Given the description of an element on the screen output the (x, y) to click on. 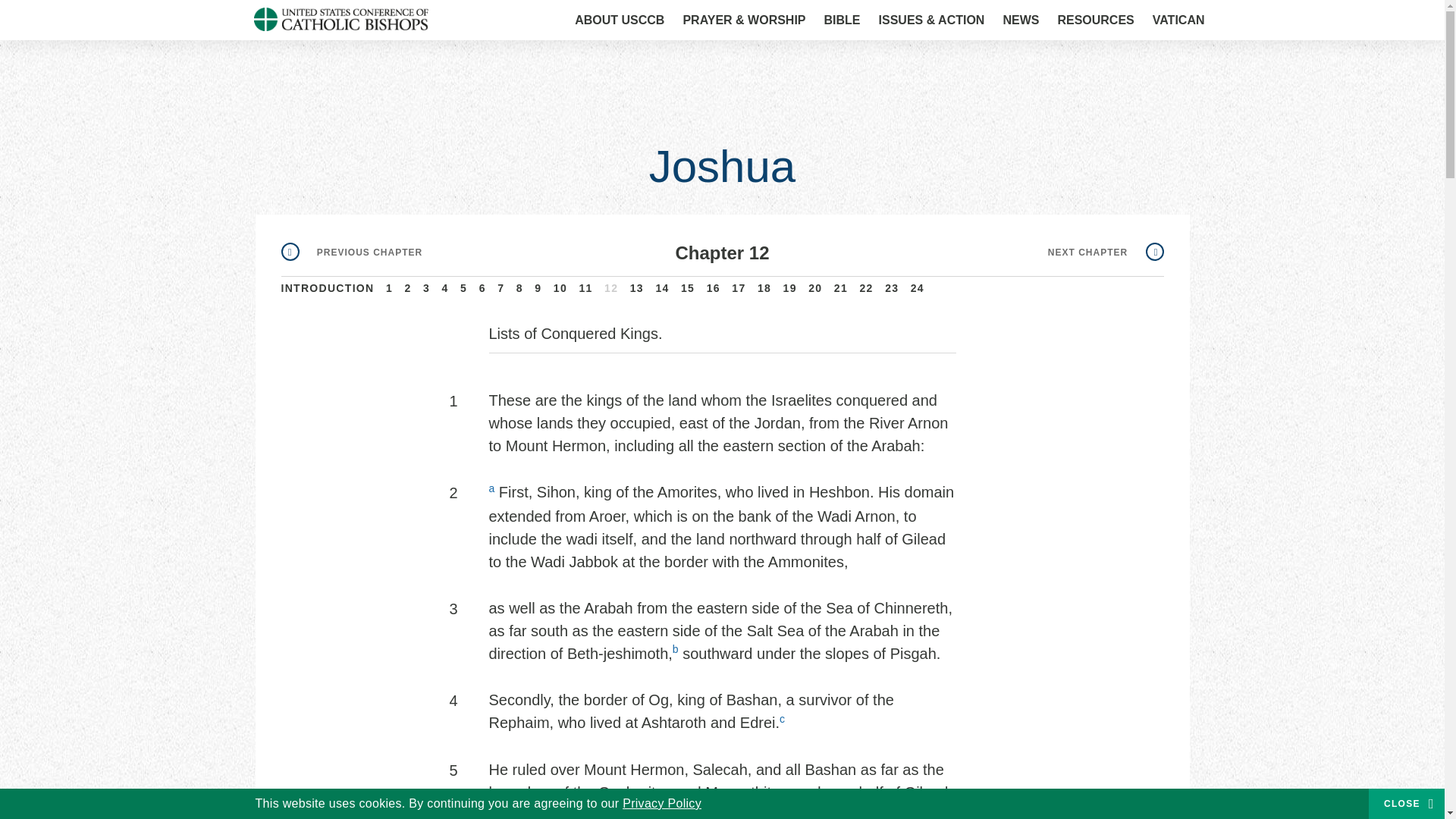
Go to previous page (351, 252)
Link list for Vatican website (1178, 20)
Go (1173, 21)
Go to next page (1105, 252)
